Given the description of an element on the screen output the (x, y) to click on. 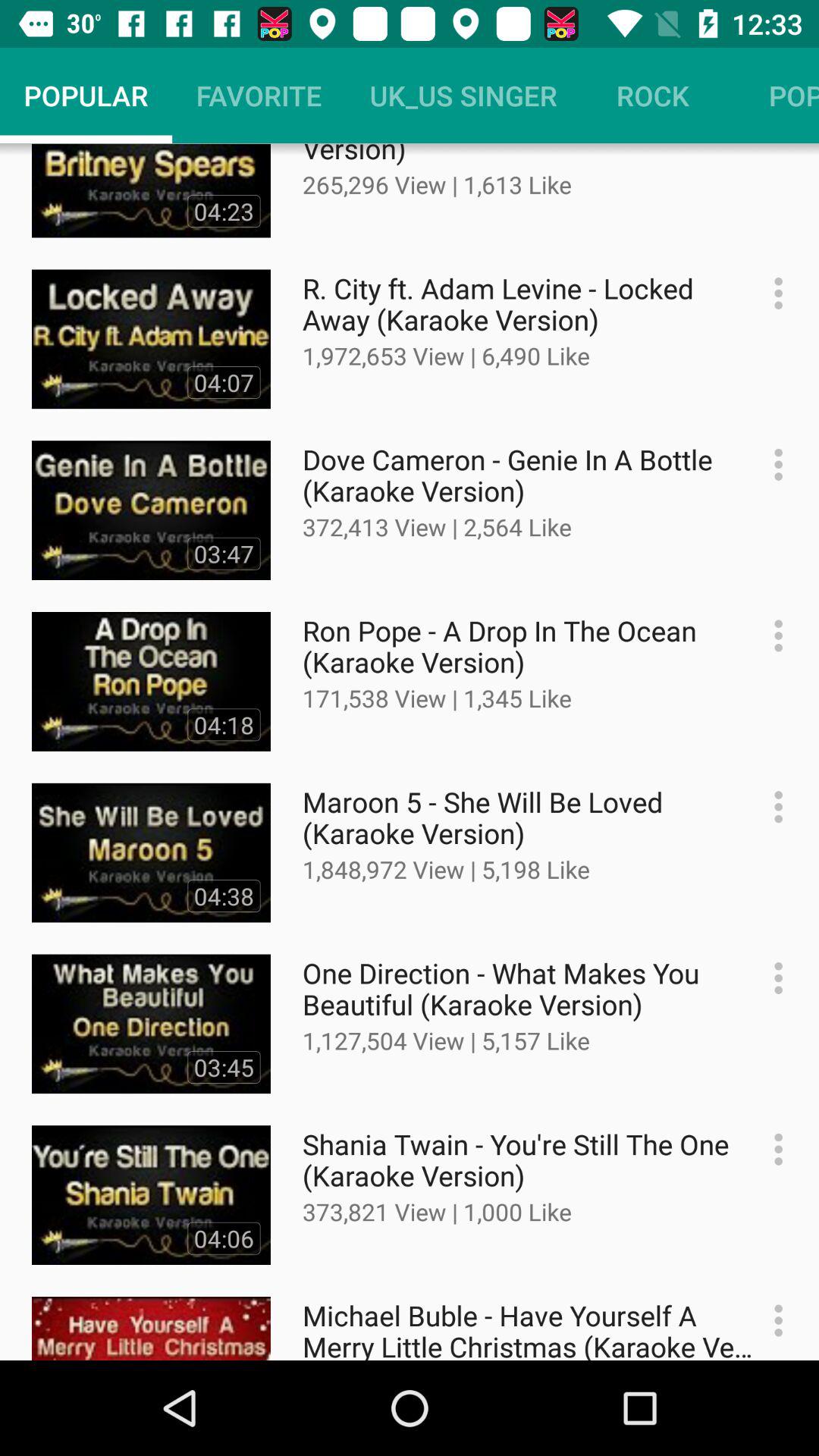
view song menu (770, 1149)
